Given the description of an element on the screen output the (x, y) to click on. 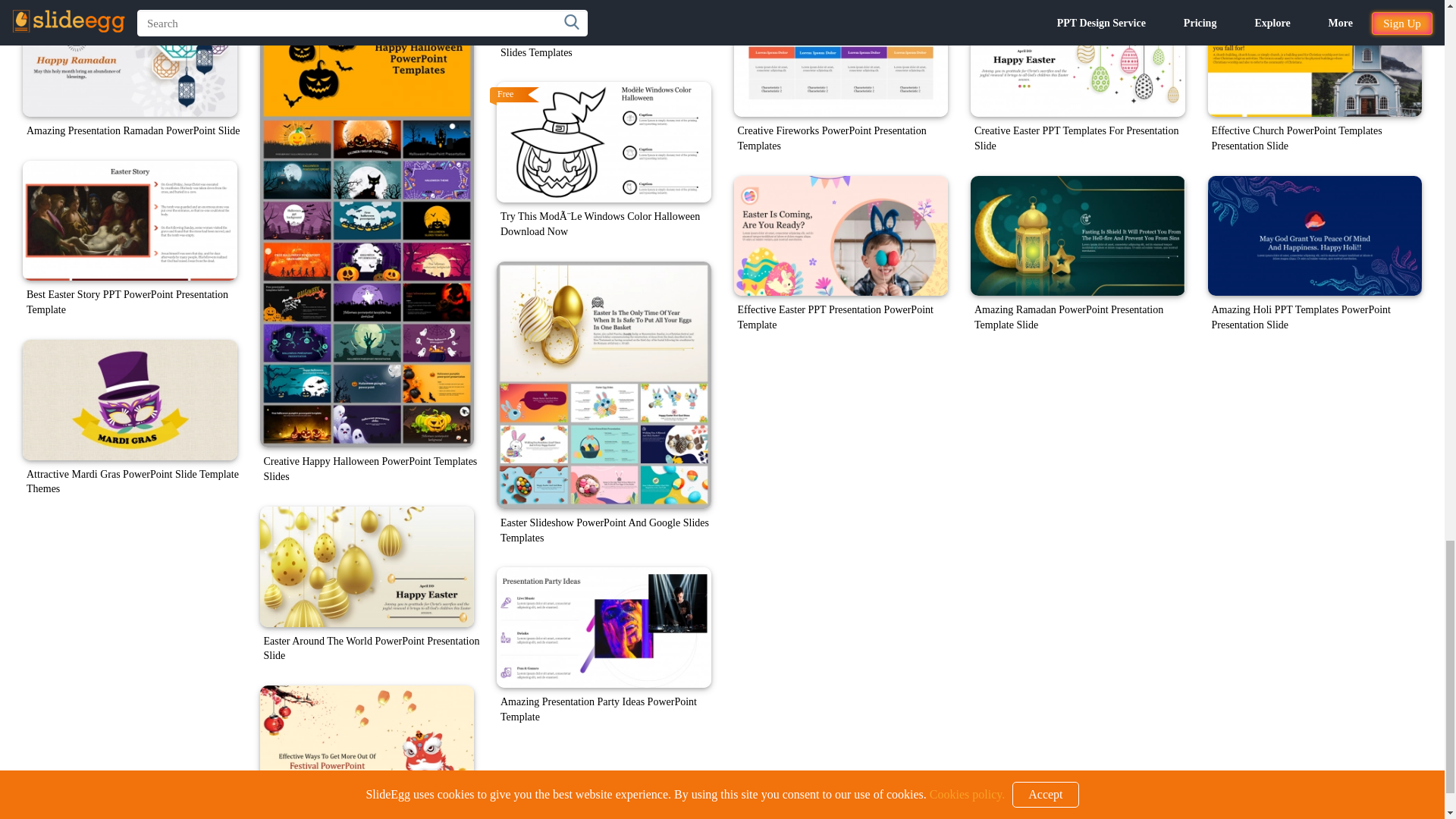
Best Festival PowerPoint Template and Google Slides Themes (366, 745)
Creative Eid Ul Fitr PowerPoint and Google Slides Templates (603, 11)
Effective Easter PPT Presentation PowerPoint Template  (841, 236)
Amazing Presentation Party Ideas PowerPoint Template  (603, 627)
Best Easter Story PPT PowerPoint Presentation Template  (130, 220)
Creative Fireworks PowerPoint Presentation Templates (841, 58)
Easter Around The World PowerPoint Presentation Slide (366, 566)
Attractive Mardi Gras PowerPoint Slide Template Themes (130, 399)
Amazing Presentation Ramadan PowerPoint Slide (130, 58)
Creative Easter PPT Templates For Presentation Slide (1078, 58)
